Given the description of an element on the screen output the (x, y) to click on. 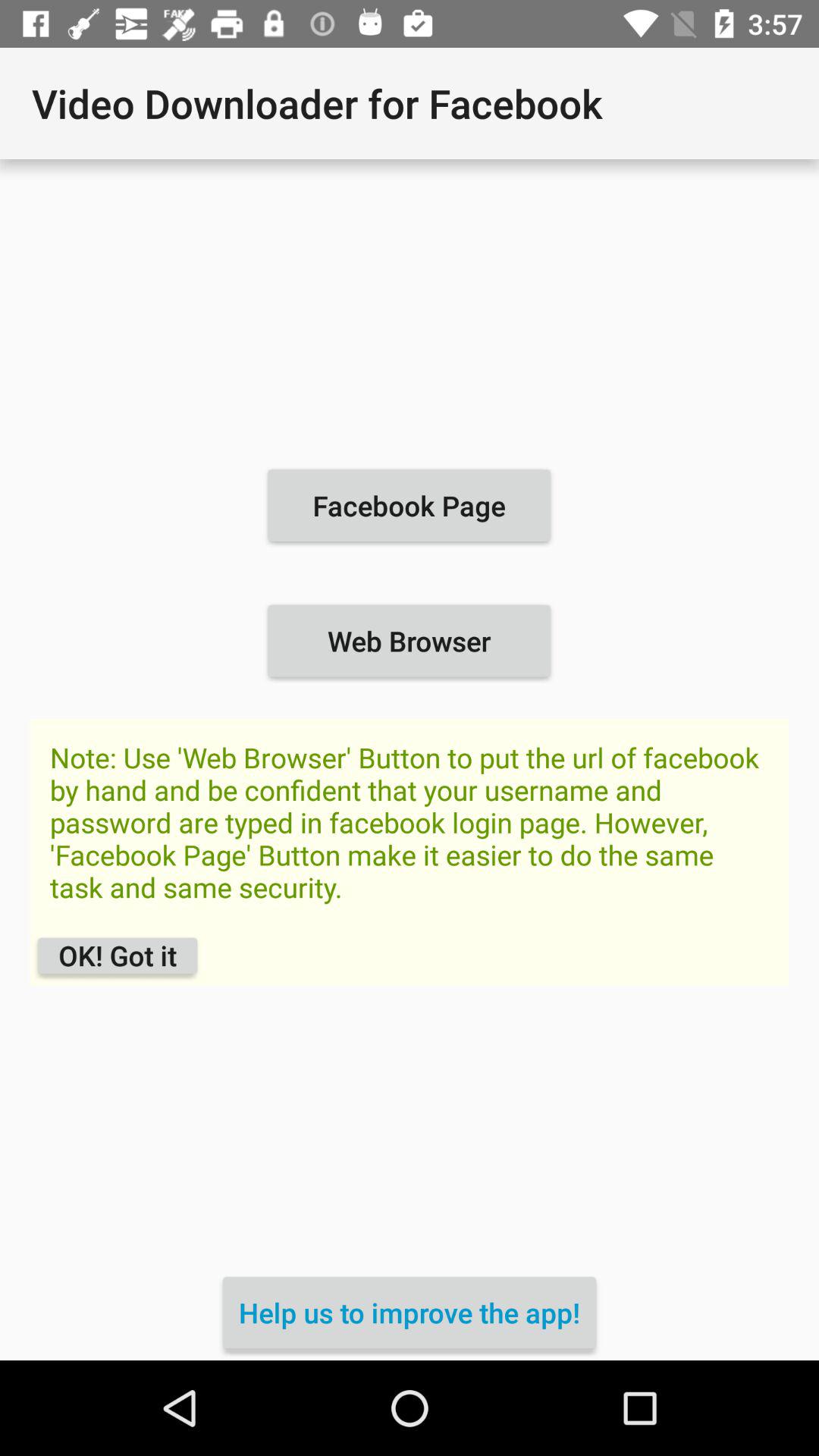
choose the ok! got it (117, 955)
